Given the description of an element on the screen output the (x, y) to click on. 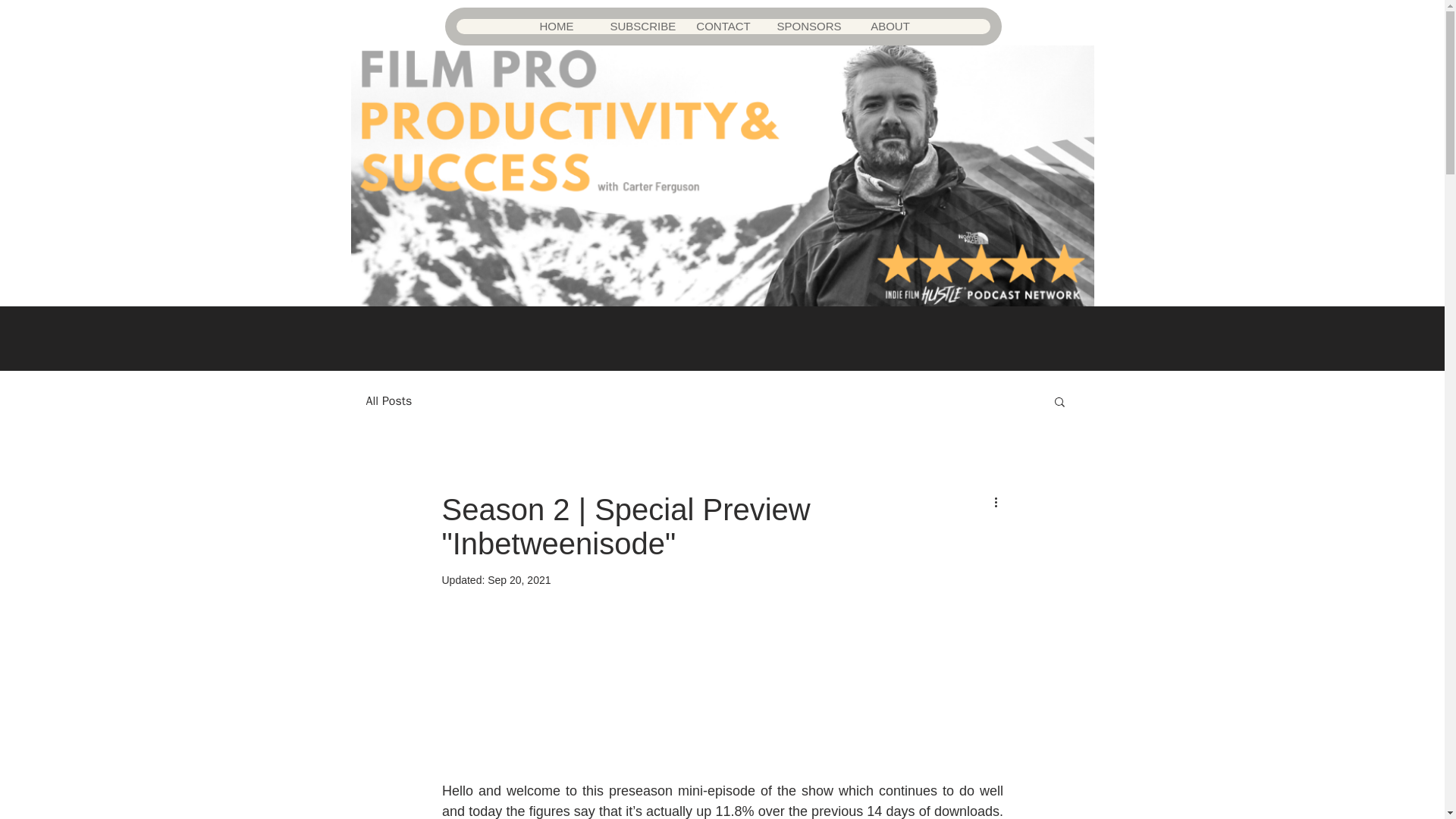
Sep 20, 2021 (518, 580)
All Posts (388, 400)
HOME (554, 26)
CONTACT (722, 26)
SPONSORS (805, 26)
ABOUT (889, 26)
SUBSCRIBE (638, 26)
